Given the description of an element on the screen output the (x, y) to click on. 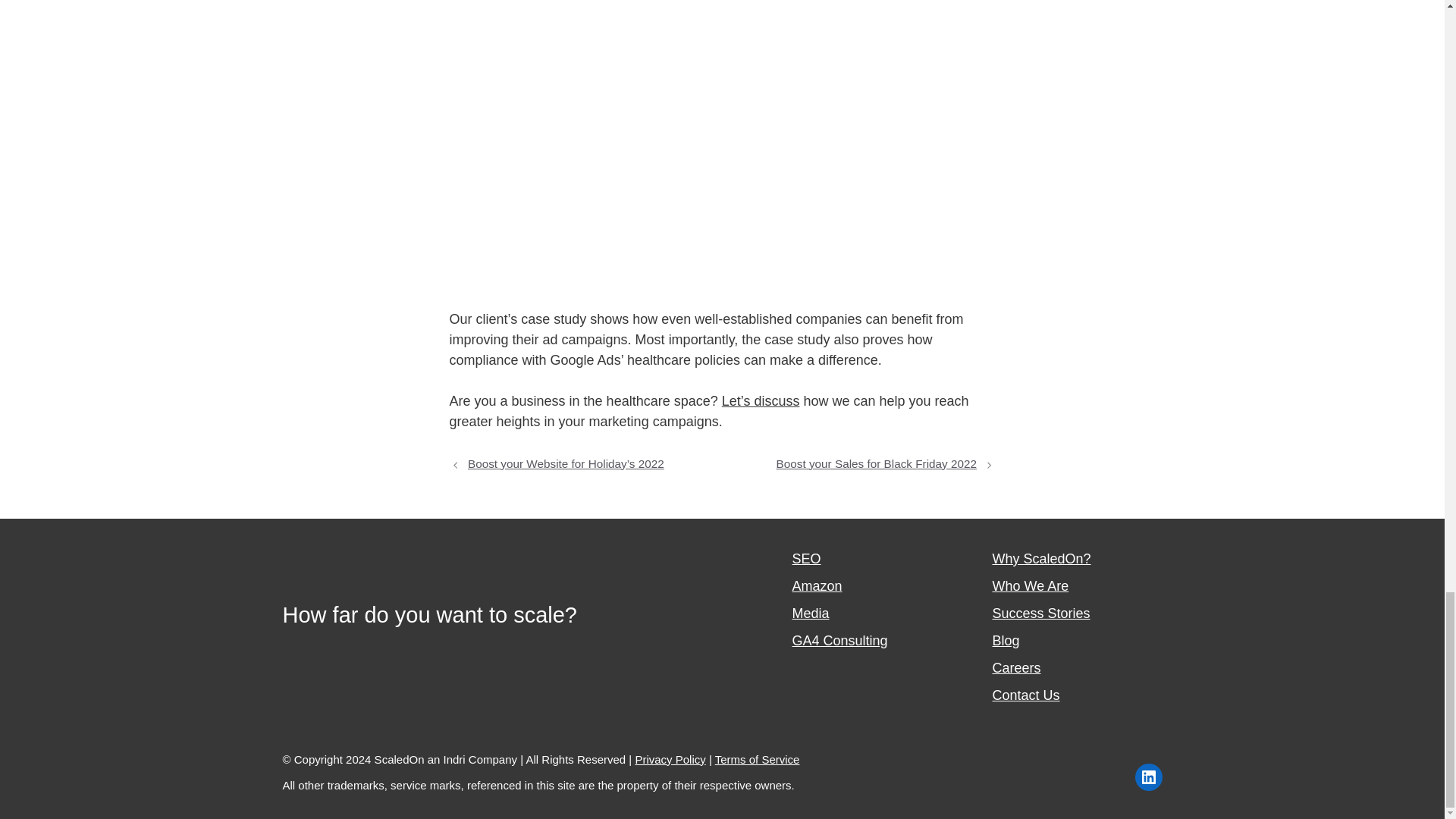
Amazon (816, 585)
Blog (1005, 640)
Why ScaledOn? (1040, 558)
Who We Are (1029, 585)
GA4 Consulting (839, 640)
Media (810, 613)
Boost your Sales for Black Friday 2022 (876, 463)
Contact Us (1025, 694)
Success Stories (1040, 613)
Careers (1016, 667)
SEO (806, 558)
